Given the description of an element on the screen output the (x, y) to click on. 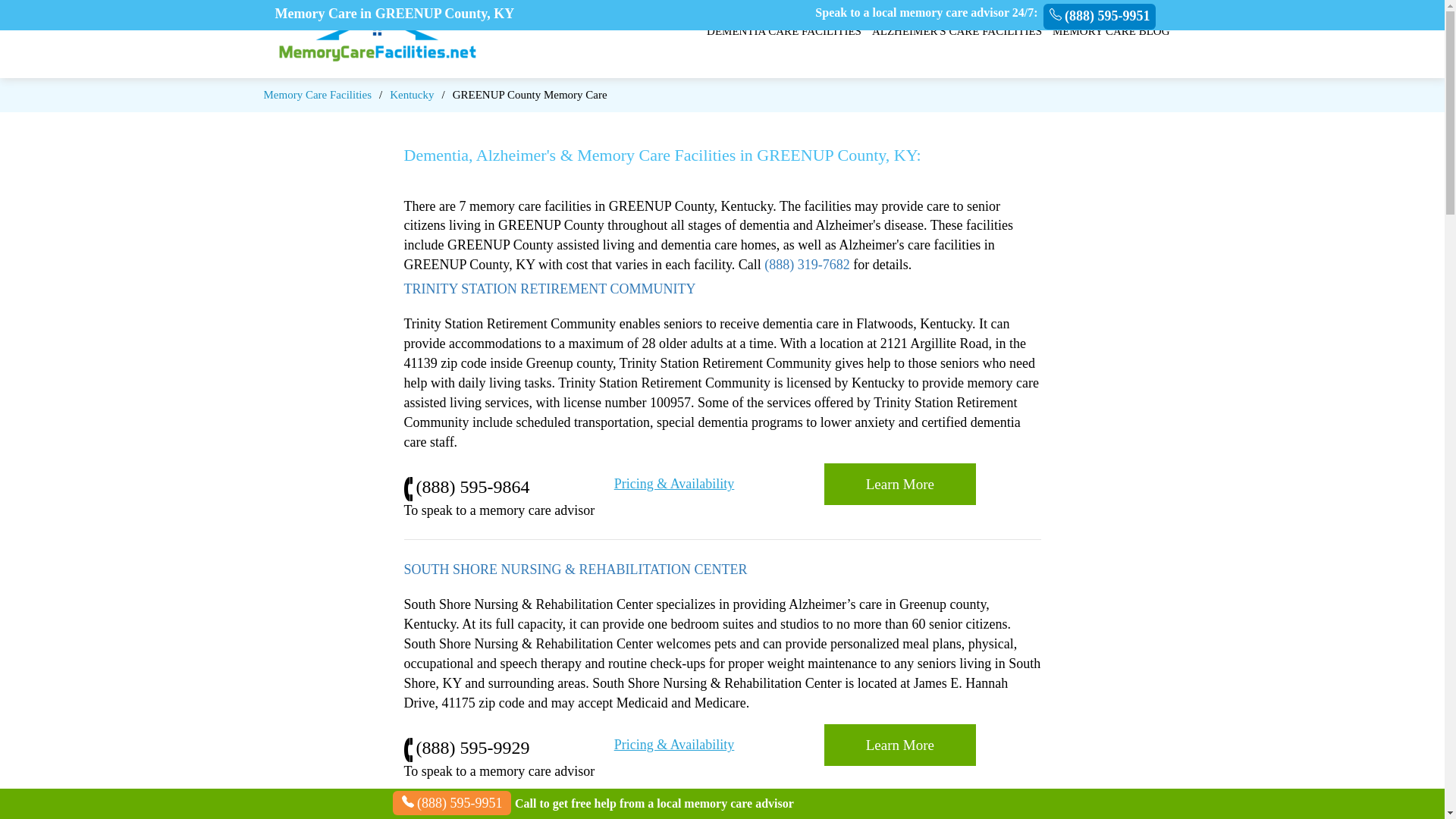
DEMENTIA CARE FACILITIES (783, 31)
Learn More (899, 484)
Memory Care Facilities (317, 94)
MEMORY CARE BLOG (1110, 31)
ALZHEIMER'S CARE FACILITIES (957, 31)
Learn More (899, 484)
Learn More (899, 744)
Learn More (899, 744)
Memory Care Facilities (317, 94)
Memory Care in Kentucky (411, 94)
Kentucky (411, 94)
